Given the description of an element on the screen output the (x, y) to click on. 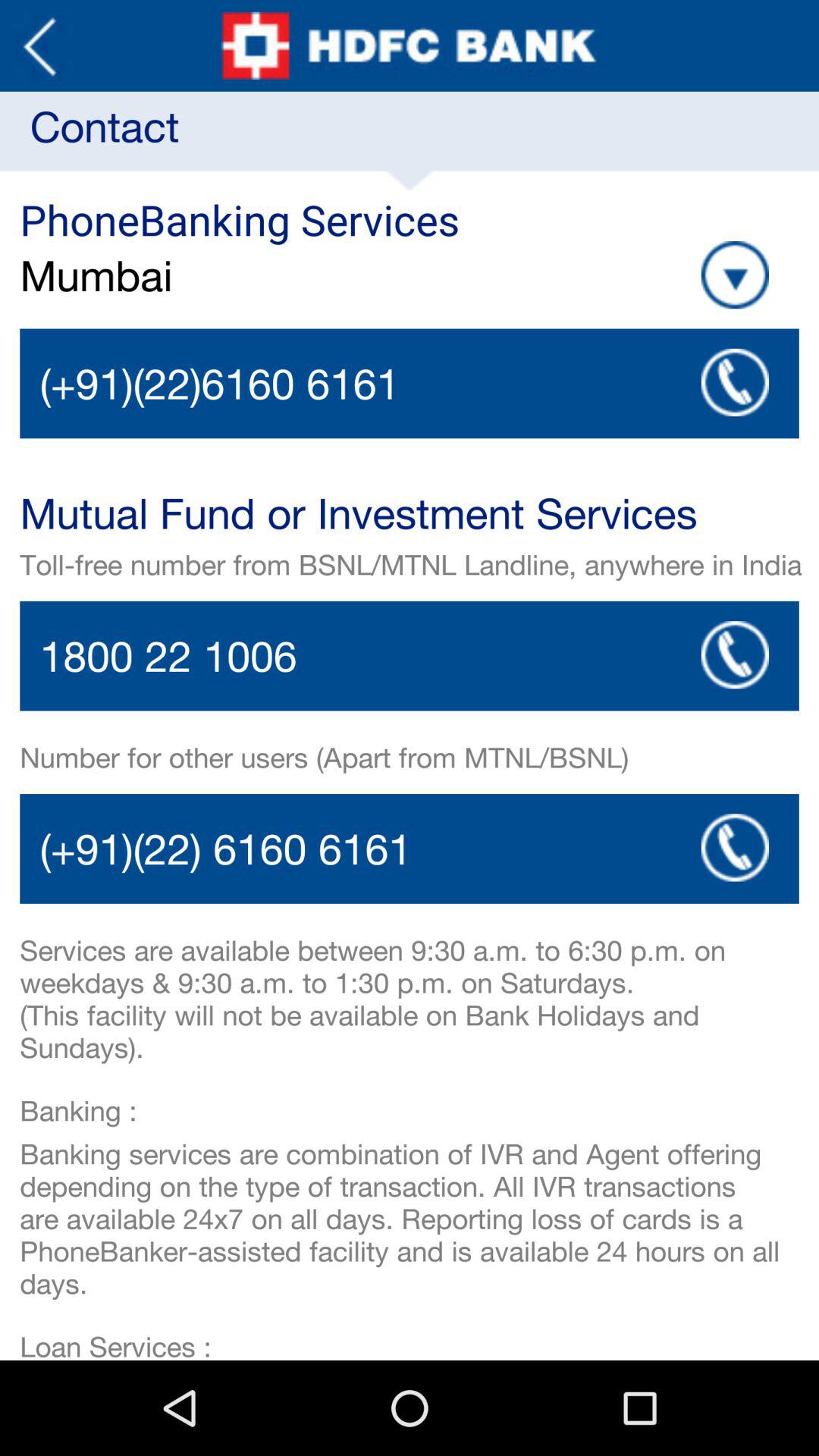
call the phone number (409, 848)
